Given the description of an element on the screen output the (x, y) to click on. 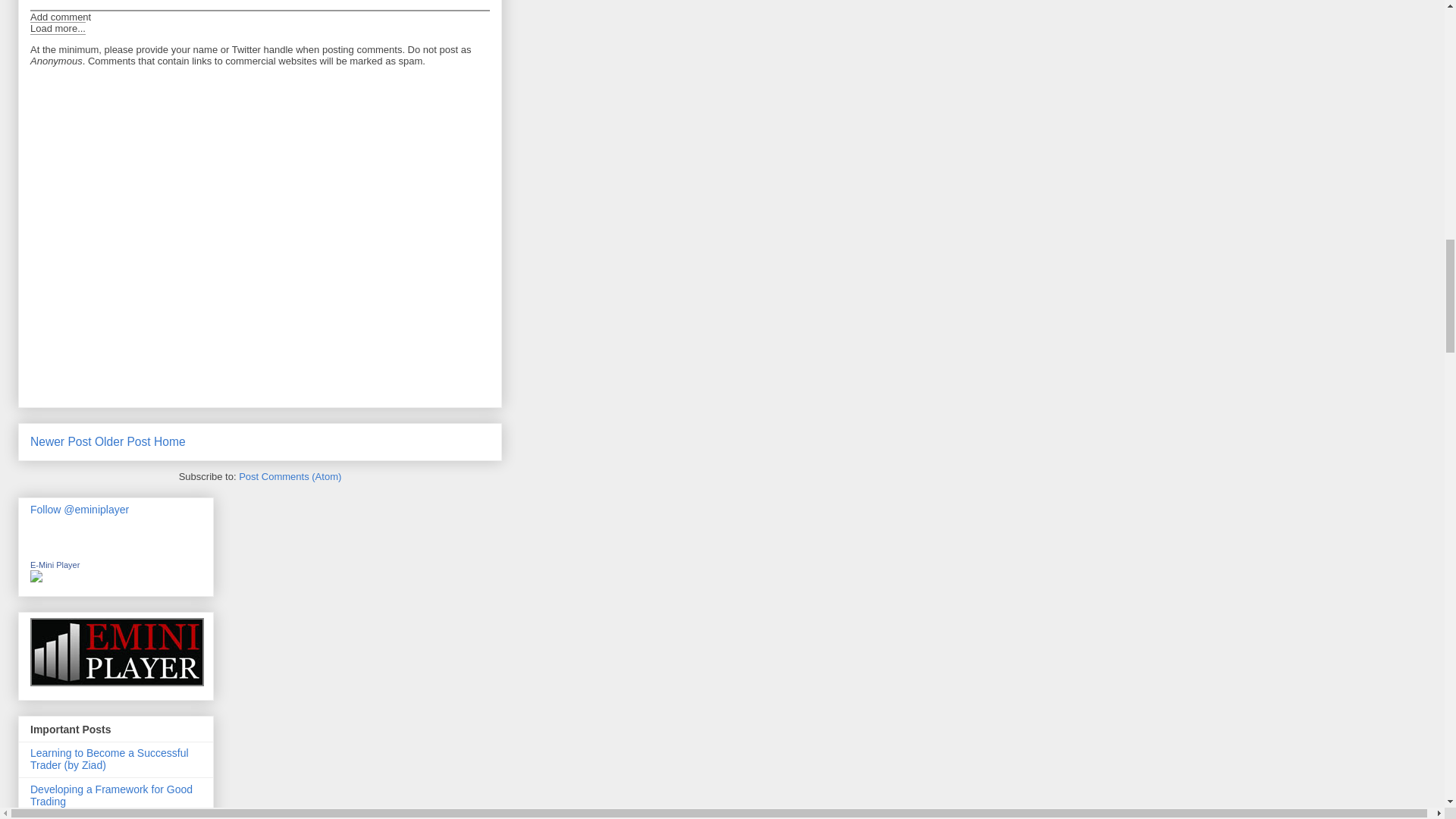
Newer Post (60, 440)
Older Post (122, 440)
E-Mini Player (36, 578)
E-Mini Player (55, 564)
